Given the description of an element on the screen output the (x, y) to click on. 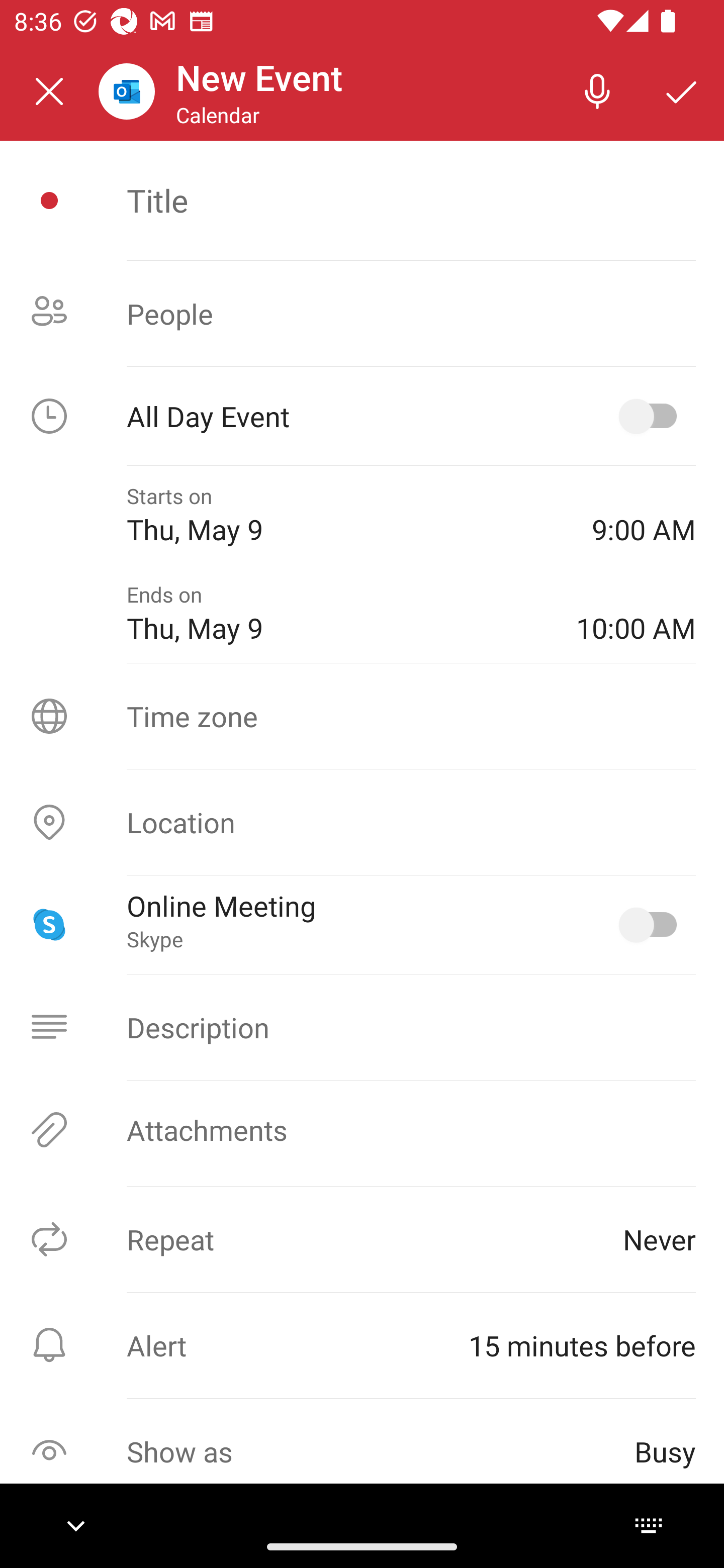
Close (49, 91)
Save (681, 90)
Title (410, 200)
Event icon picker (48, 200)
People (362, 313)
All Day Event (362, 415)
Starts on Thu, May 9 (344, 514)
9:00 AM (643, 514)
Ends on Thu, May 9 (336, 613)
10:00 AM (635, 613)
Time zone (362, 715)
Location (362, 821)
Online Meeting, Skype selected (651, 923)
Description (362, 1026)
Attachments (362, 1129)
Repeat Never (362, 1239)
Alert ⁨15 minutes before (362, 1345)
Show as Busy (362, 1450)
